Given the description of an element on the screen output the (x, y) to click on. 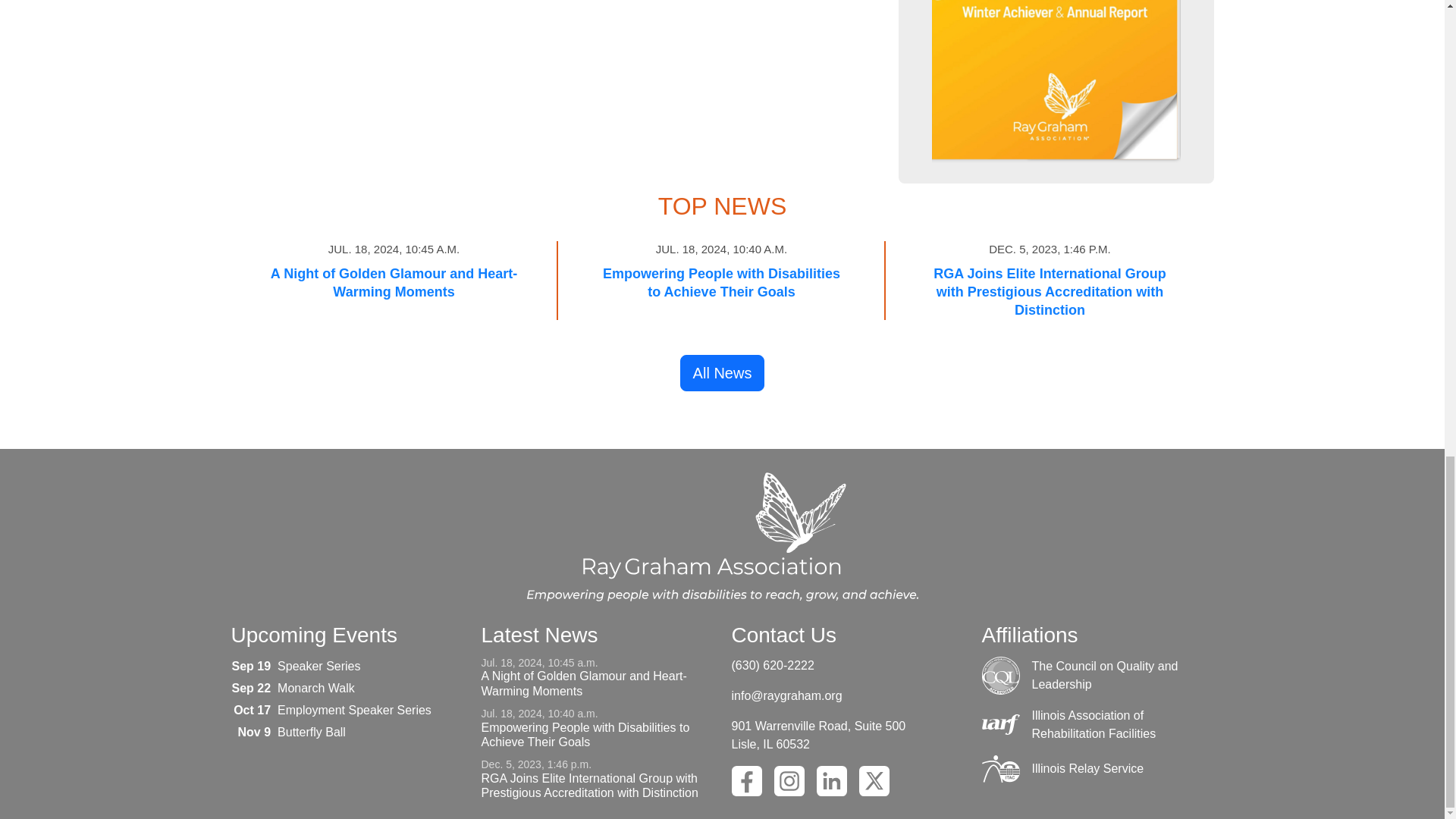
Follow us on Instagram (788, 780)
Join us on Facebook (745, 780)
